Given the description of an element on the screen output the (x, y) to click on. 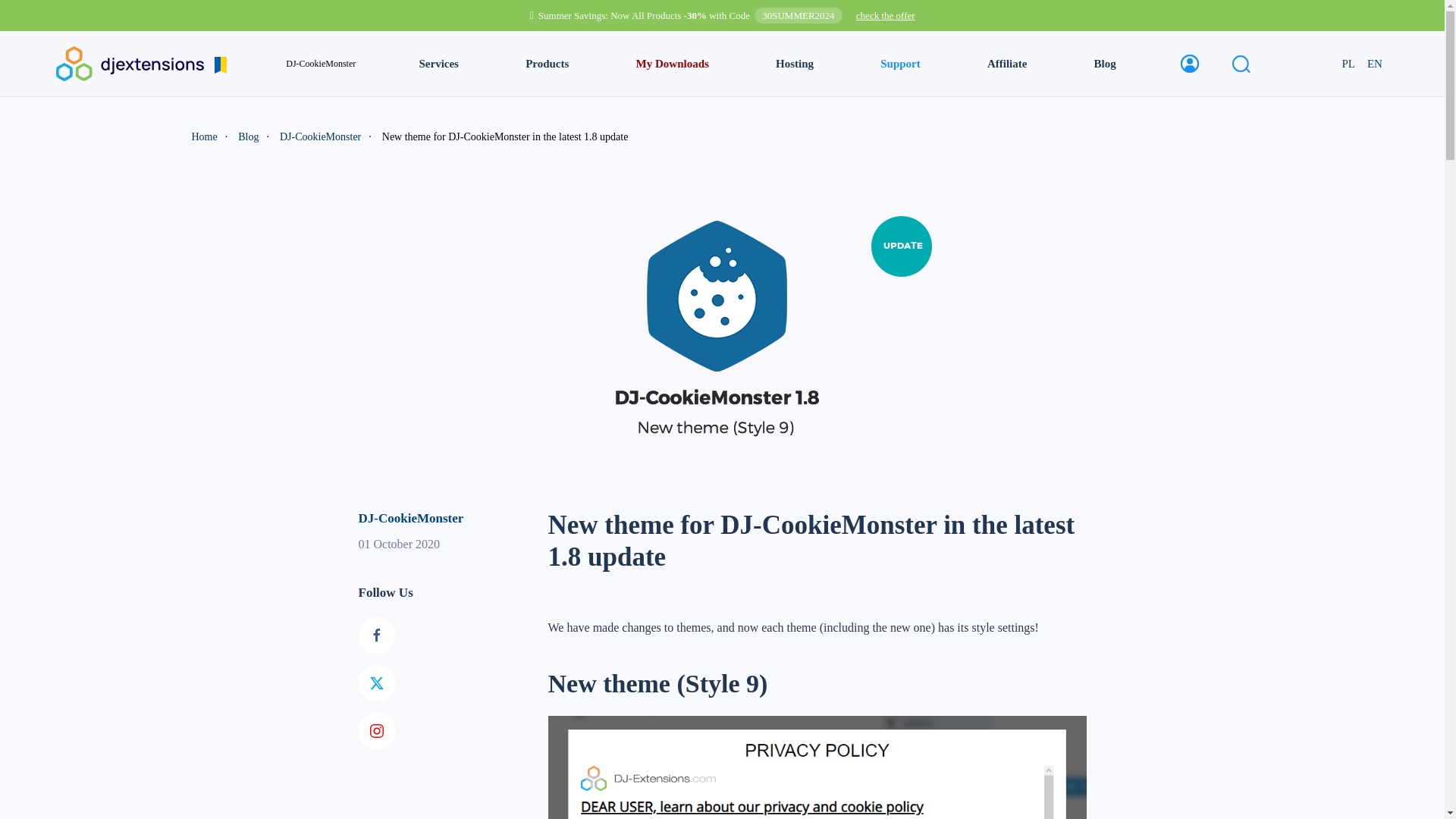
check the offer (885, 15)
cls (671, 63)
Summer savings, check out the offer (885, 15)
Wordpress and Joomla Developer (141, 61)
language switcher - EN (1375, 63)
